Given the description of an element on the screen output the (x, y) to click on. 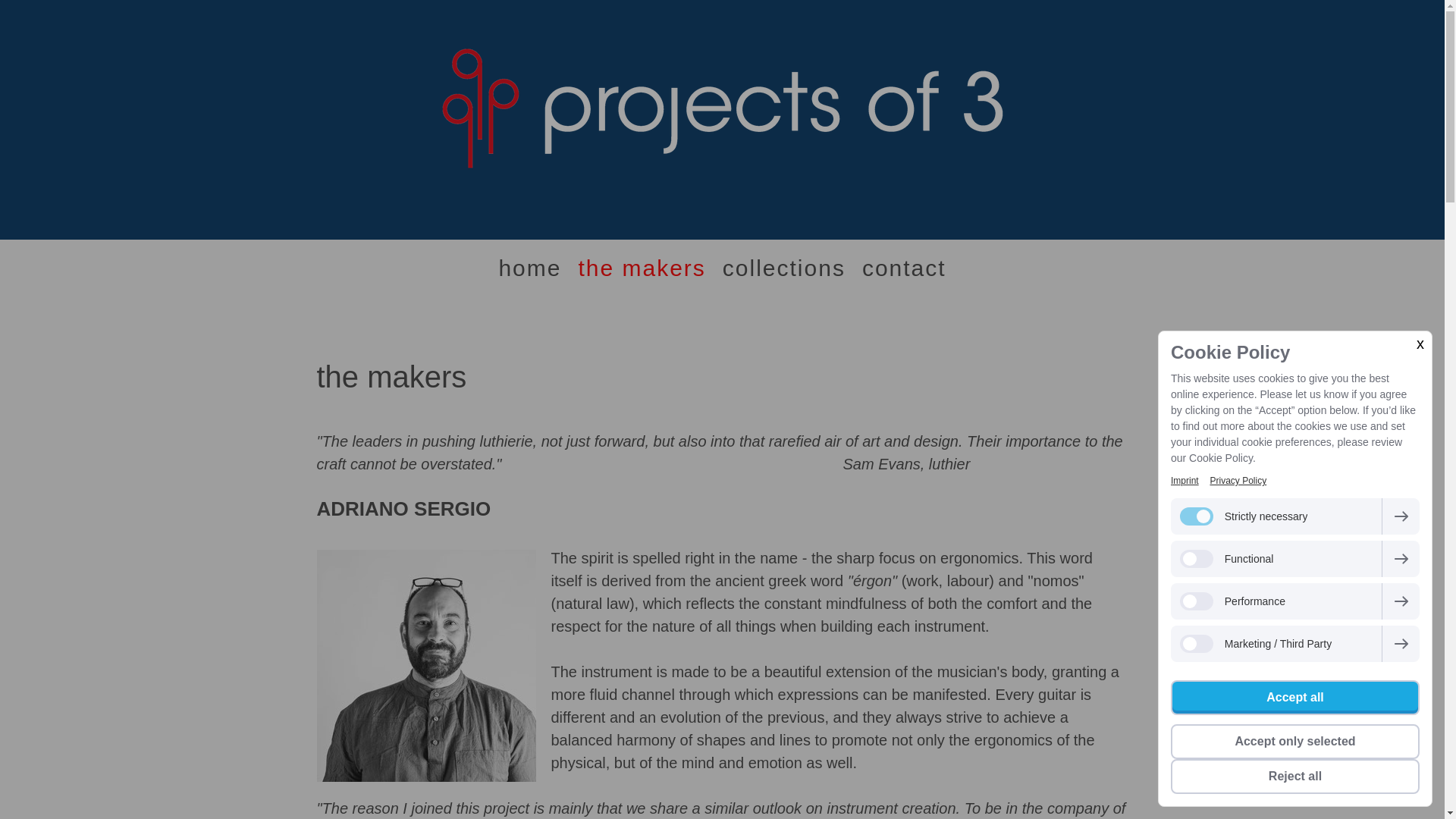
the makers (641, 267)
contact (904, 267)
home (529, 267)
collections (783, 267)
